Given the description of an element on the screen output the (x, y) to click on. 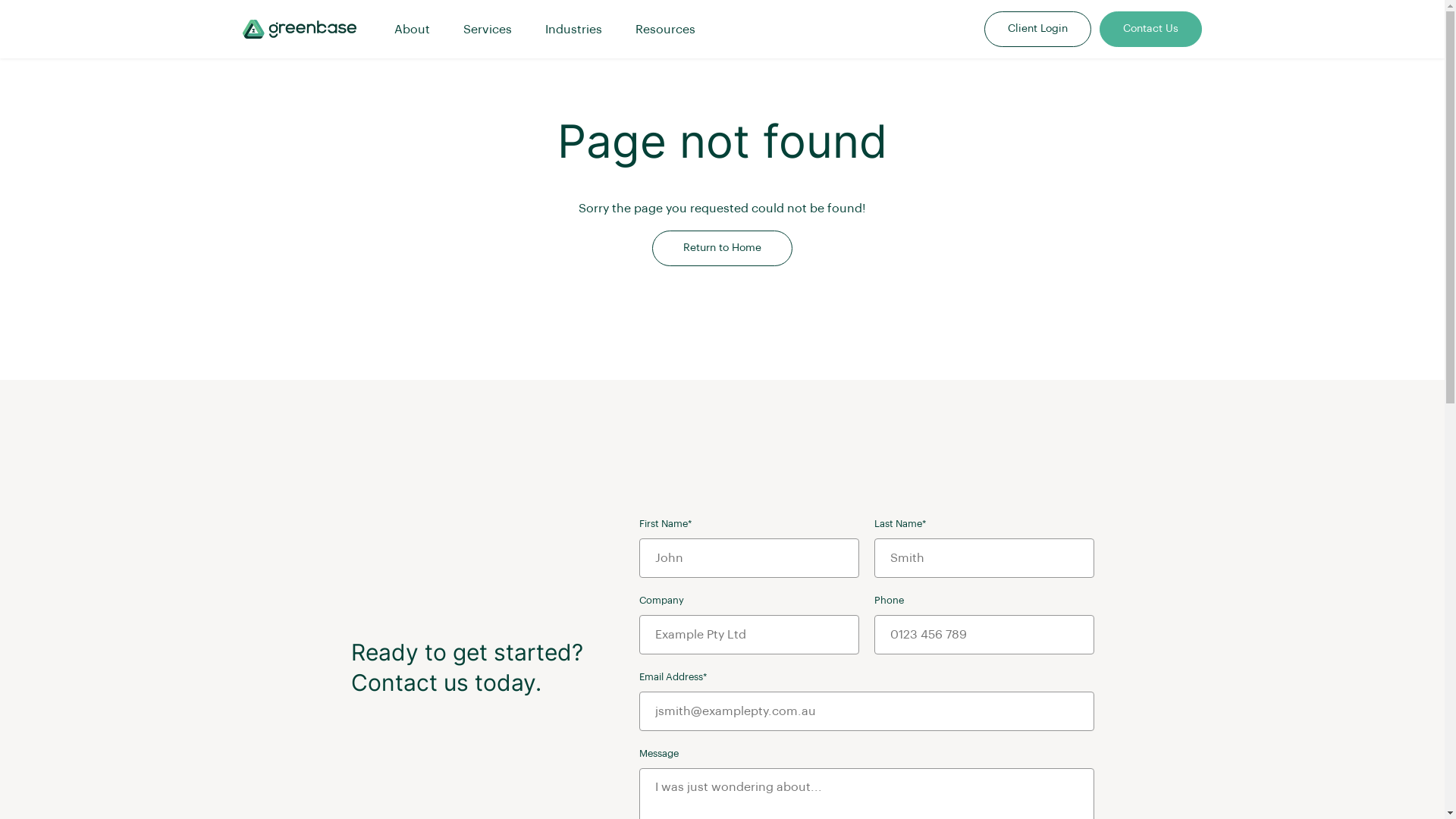
Contact Us Element type: text (1150, 29)
Client Login Element type: text (1037, 29)
About Element type: text (411, 29)
Industries Element type: text (573, 29)
Services Element type: text (487, 29)
Return to Home Element type: text (722, 248)
Resources Element type: text (665, 29)
